Given the description of an element on the screen output the (x, y) to click on. 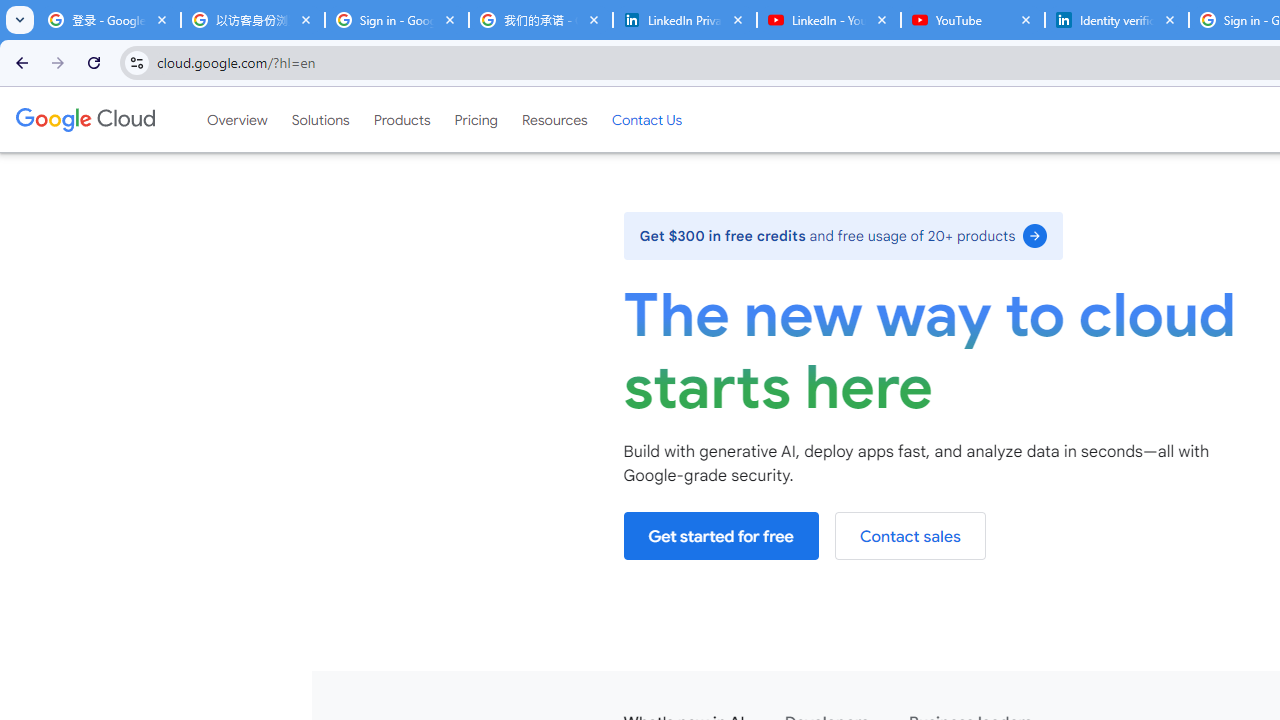
Get started for free (721, 535)
LinkedIn Privacy Policy (684, 20)
Resources (553, 119)
Sign in - Google Accounts (396, 20)
